Given the description of an element on the screen output the (x, y) to click on. 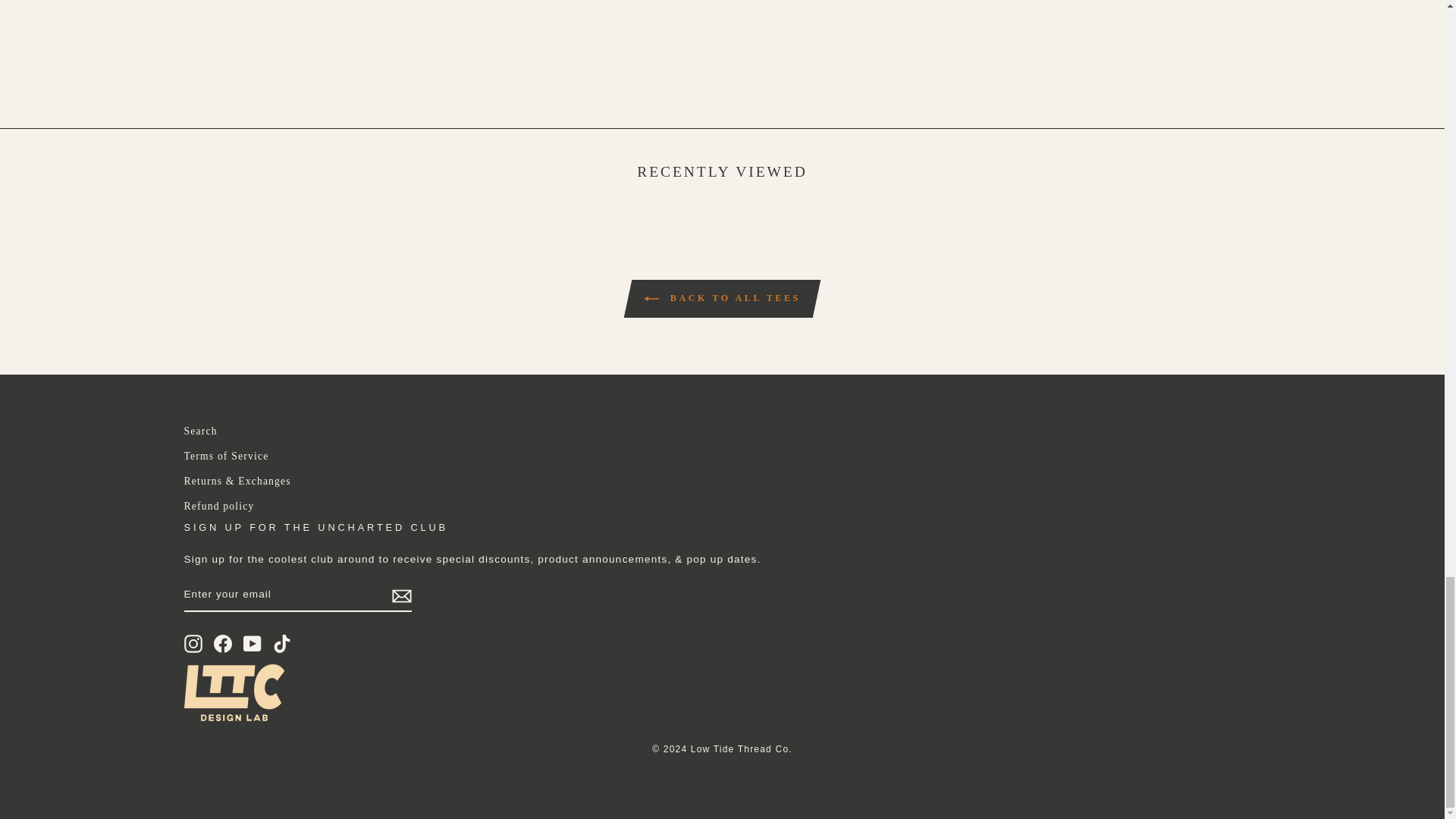
Low Tide Thread Co. on YouTube (251, 643)
Low Tide Thread Co. on Facebook (222, 643)
Low Tide Thread Co. on Instagram (192, 643)
Low Tide Thread Co. on TikTok (282, 643)
